Given the description of an element on the screen output the (x, y) to click on. 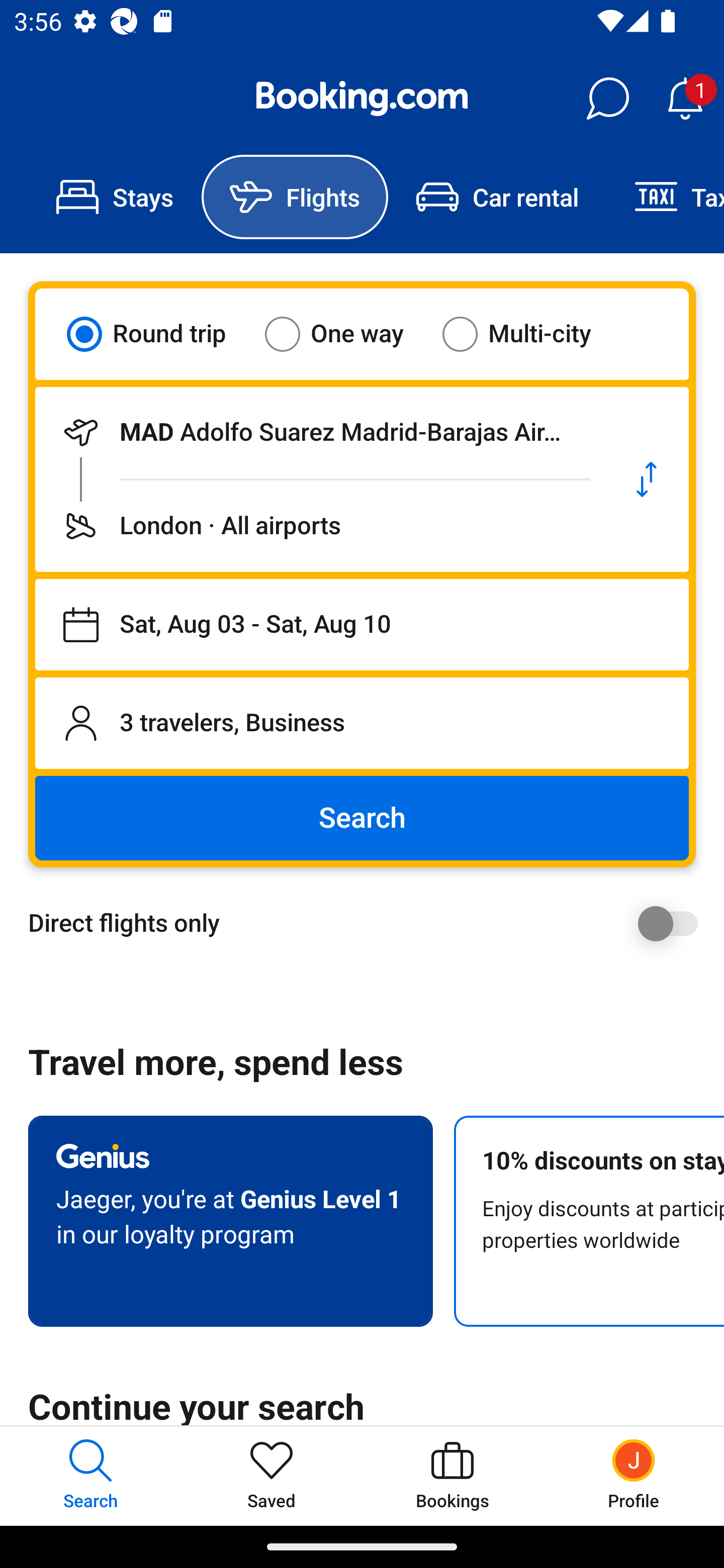
Messages (607, 98)
Notifications (685, 98)
Stays (114, 197)
Flights (294, 197)
Car rental (497, 197)
Taxi (665, 197)
One way (346, 333)
Multi-city (528, 333)
Swap departure location and destination (646, 479)
Flying to London · All airports (319, 525)
Departing on Sat, Aug 03, returning on Sat, Aug 10 (361, 624)
3 travelers, Business (361, 722)
Search (361, 818)
Direct flights only (369, 923)
Saved (271, 1475)
Bookings (452, 1475)
Profile (633, 1475)
